Given the description of an element on the screen output the (x, y) to click on. 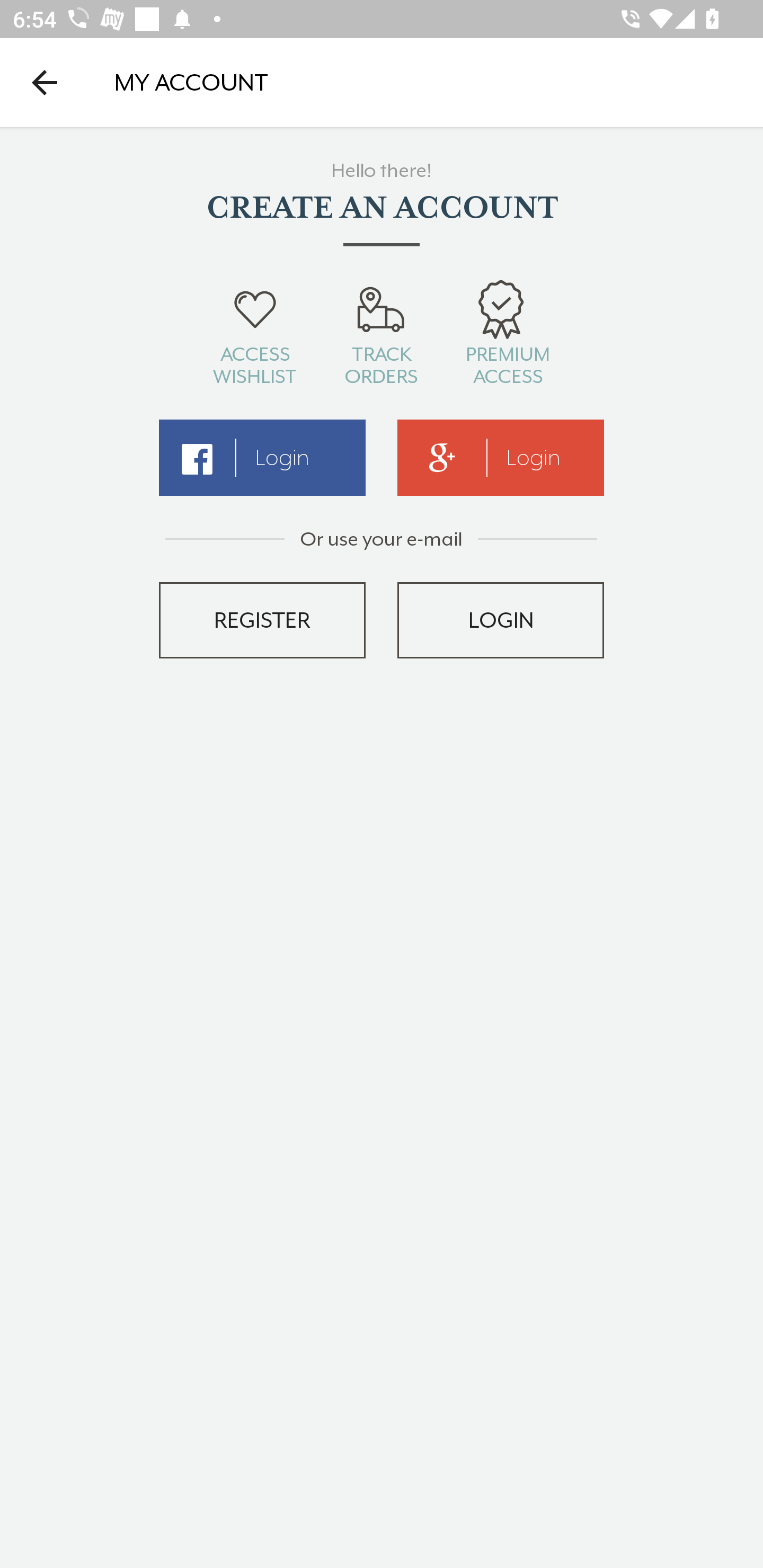
Navigate up (44, 82)
 Login (261, 457)
Login (500, 457)
REGISTER (261, 619)
LOGIN (500, 619)
